Given the description of an element on the screen output the (x, y) to click on. 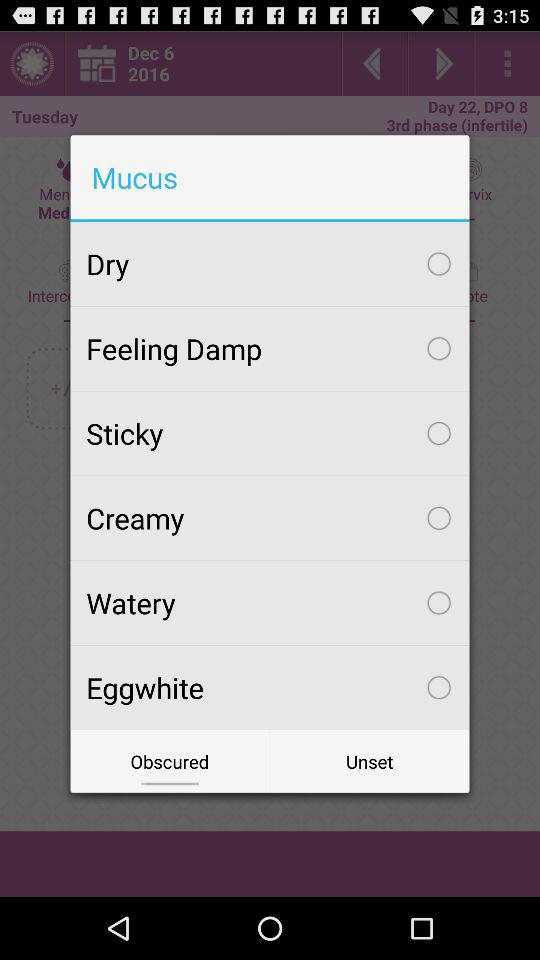
turn on the item at the bottom left corner (169, 761)
